Given the description of an element on the screen output the (x, y) to click on. 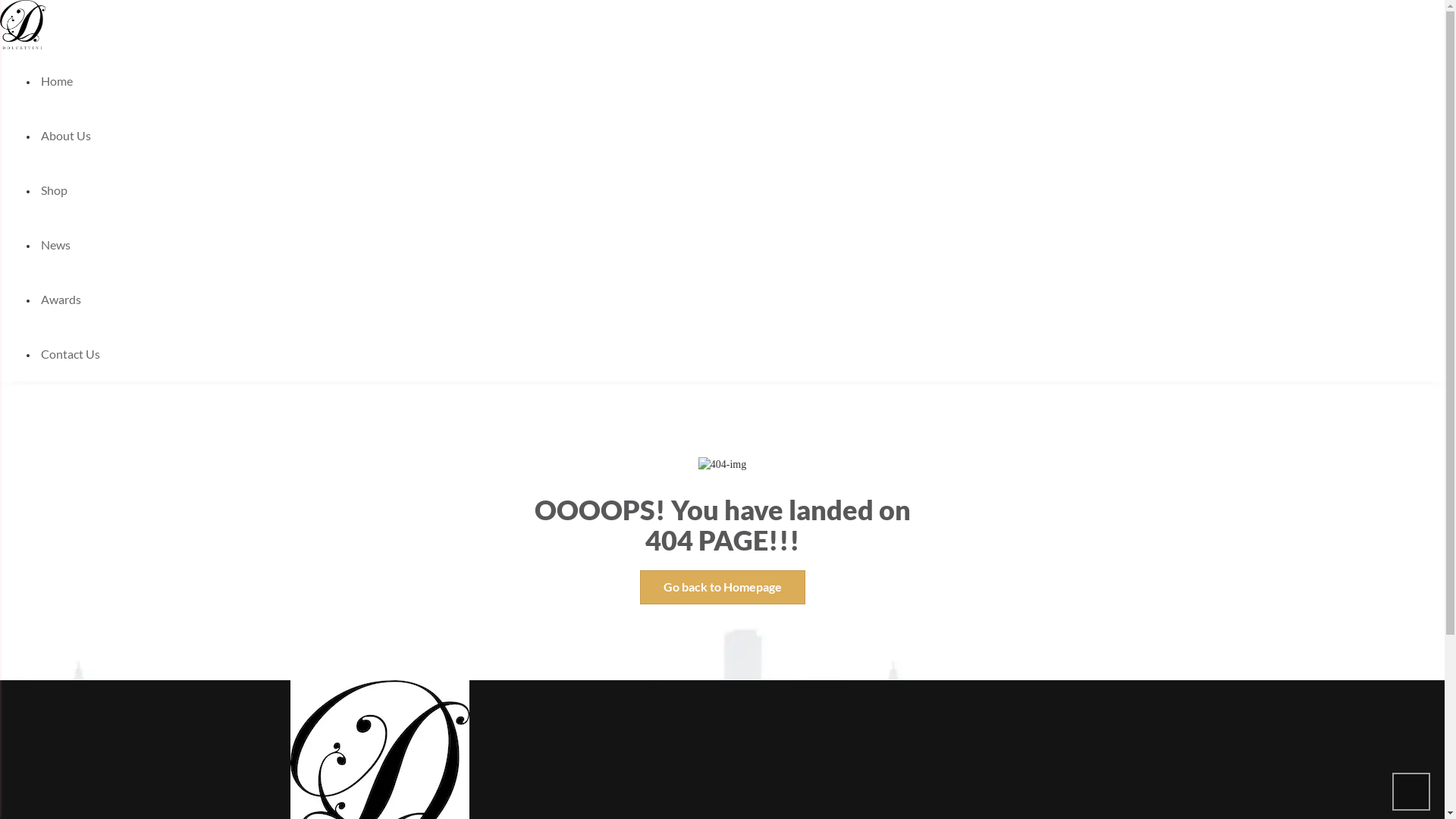
News Element type: text (55, 244)
Contact Us Element type: text (70, 353)
Shop Element type: text (53, 189)
Go back to Homepage Element type: text (722, 587)
Awards Element type: text (60, 298)
About Us Element type: text (65, 135)
Home Element type: text (56, 80)
